Given the description of an element on the screen output the (x, y) to click on. 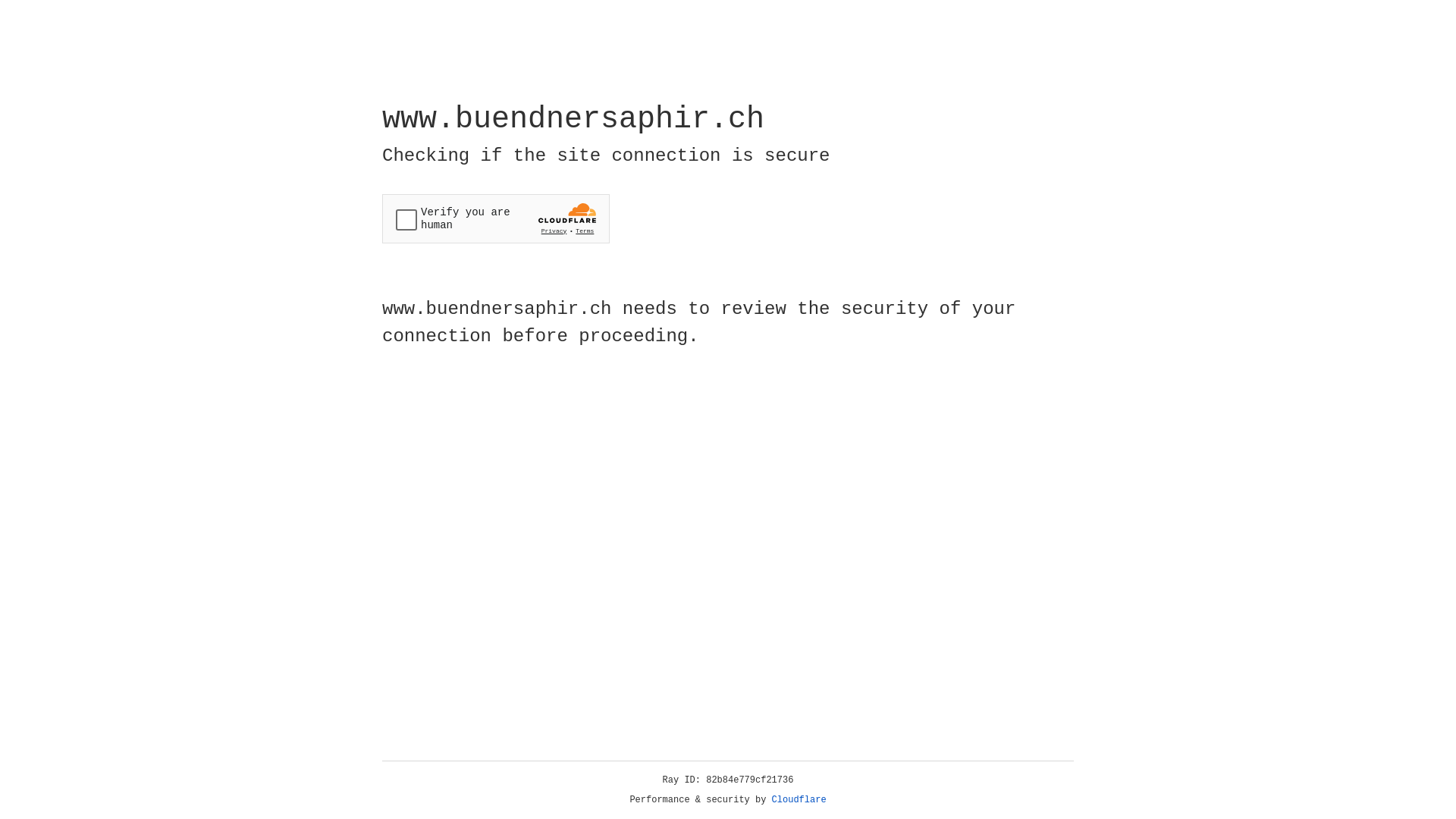
Widget containing a Cloudflare security challenge Element type: hover (495, 218)
Cloudflare Element type: text (798, 799)
